Given the description of an element on the screen output the (x, y) to click on. 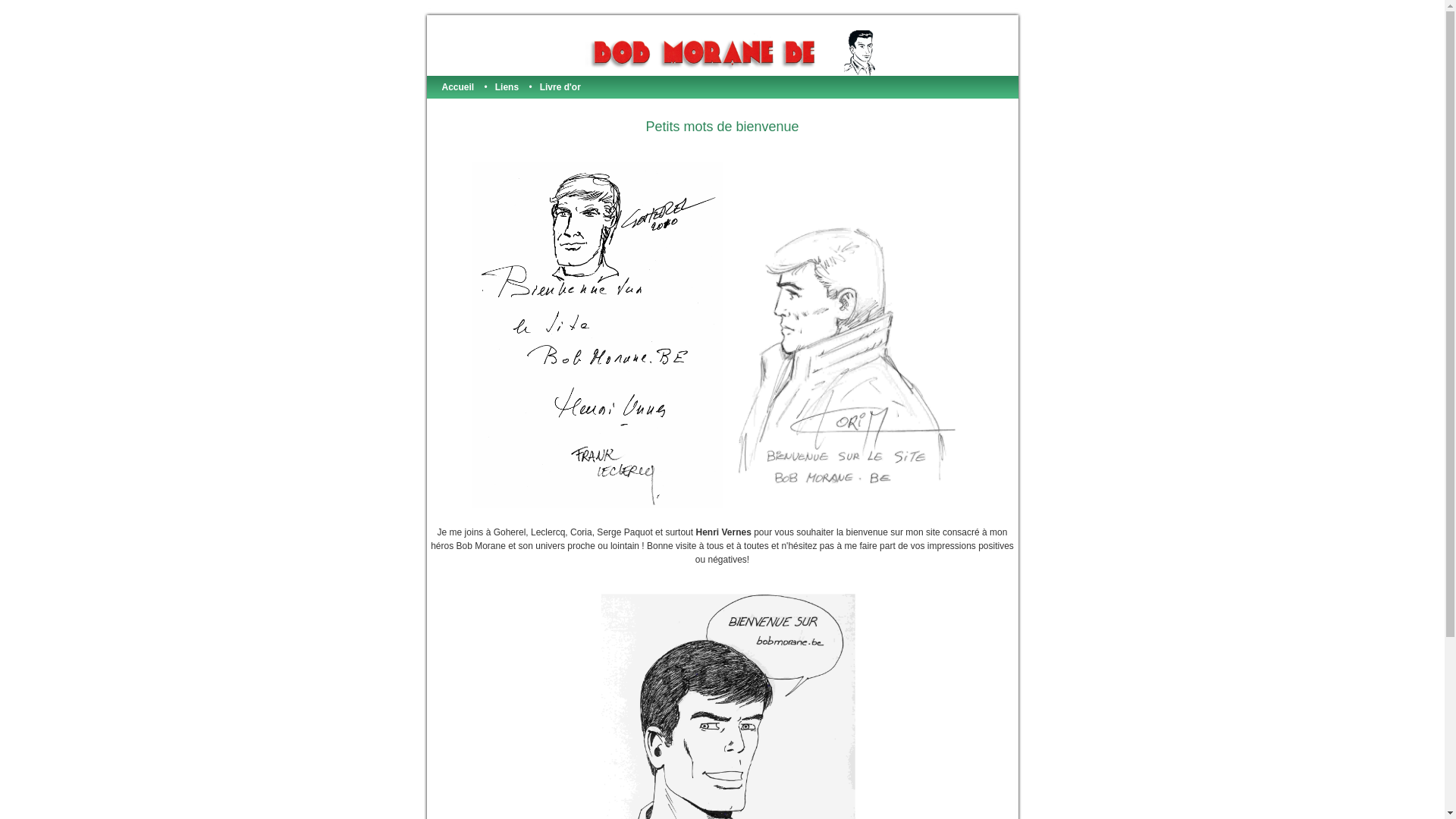
Livre d'or Element type: text (560, 86)
Liens Element type: text (506, 86)
Accueil Element type: text (457, 86)
